Given the description of an element on the screen output the (x, y) to click on. 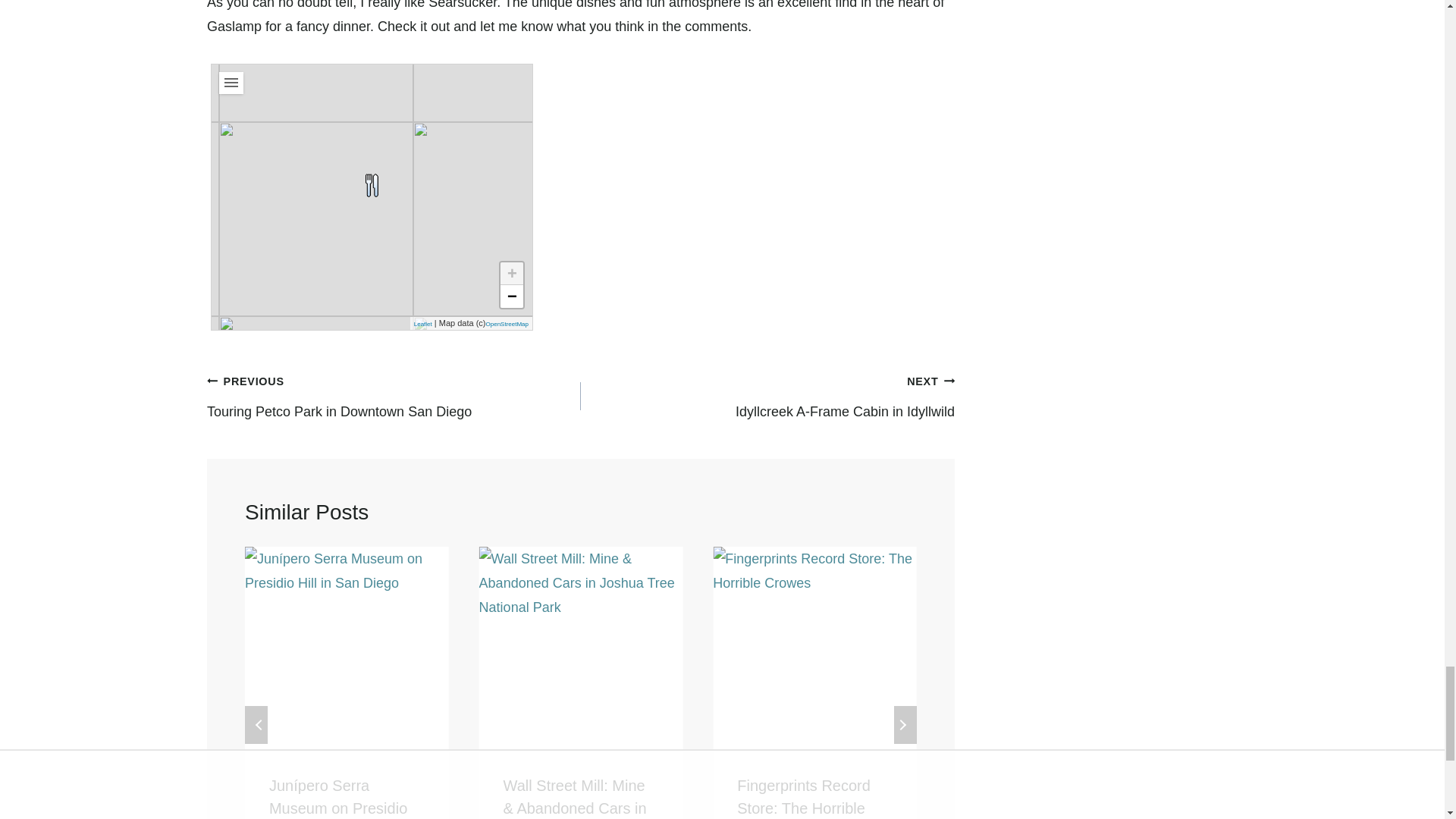
Menu (231, 83)
A JS library for interactive maps (422, 324)
Searsucker (371, 184)
